Given the description of an element on the screen output the (x, y) to click on. 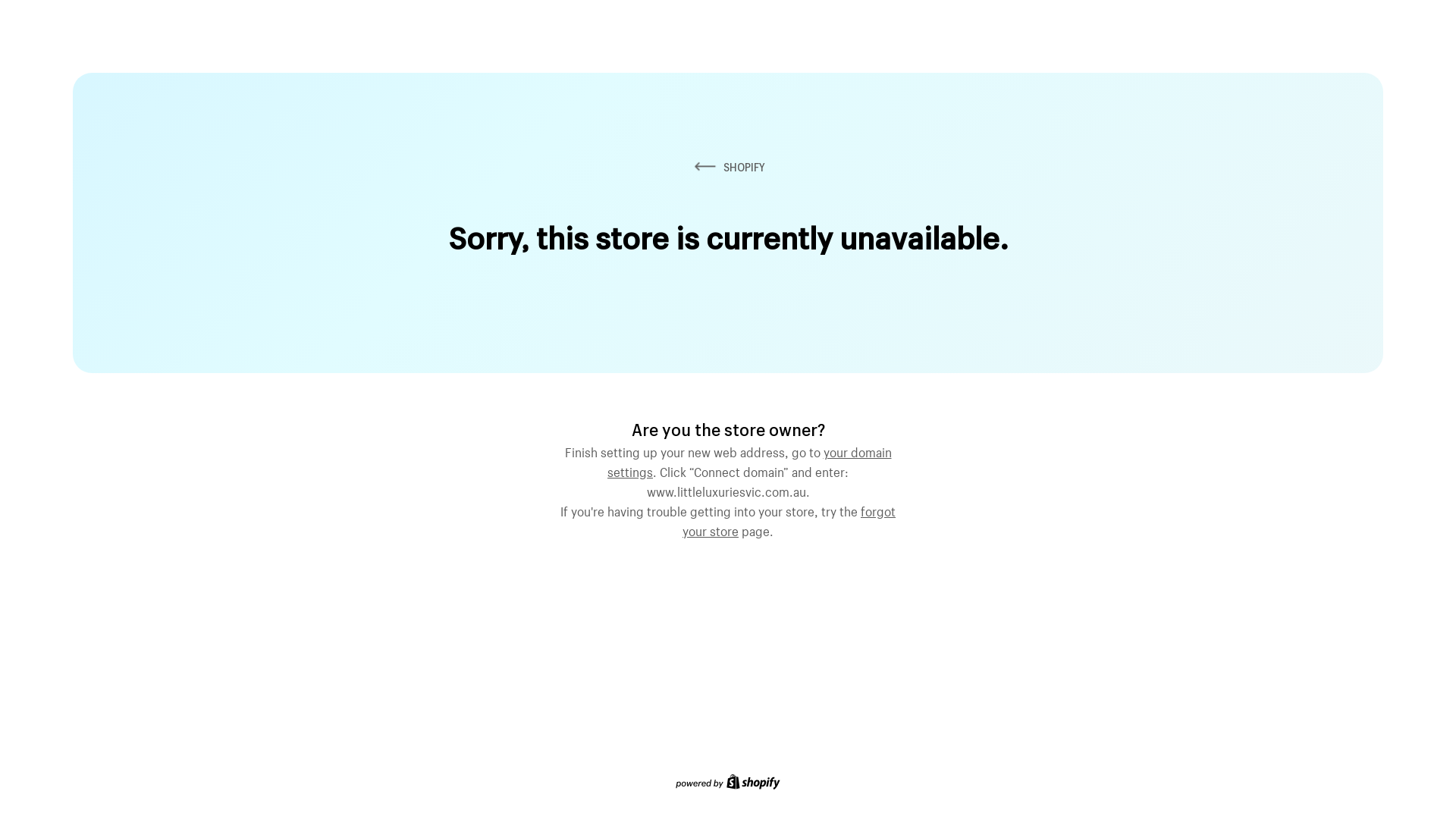
your domain settings Element type: text (749, 460)
forgot your store Element type: text (788, 519)
SHOPIFY Element type: text (727, 167)
